Given the description of an element on the screen output the (x, y) to click on. 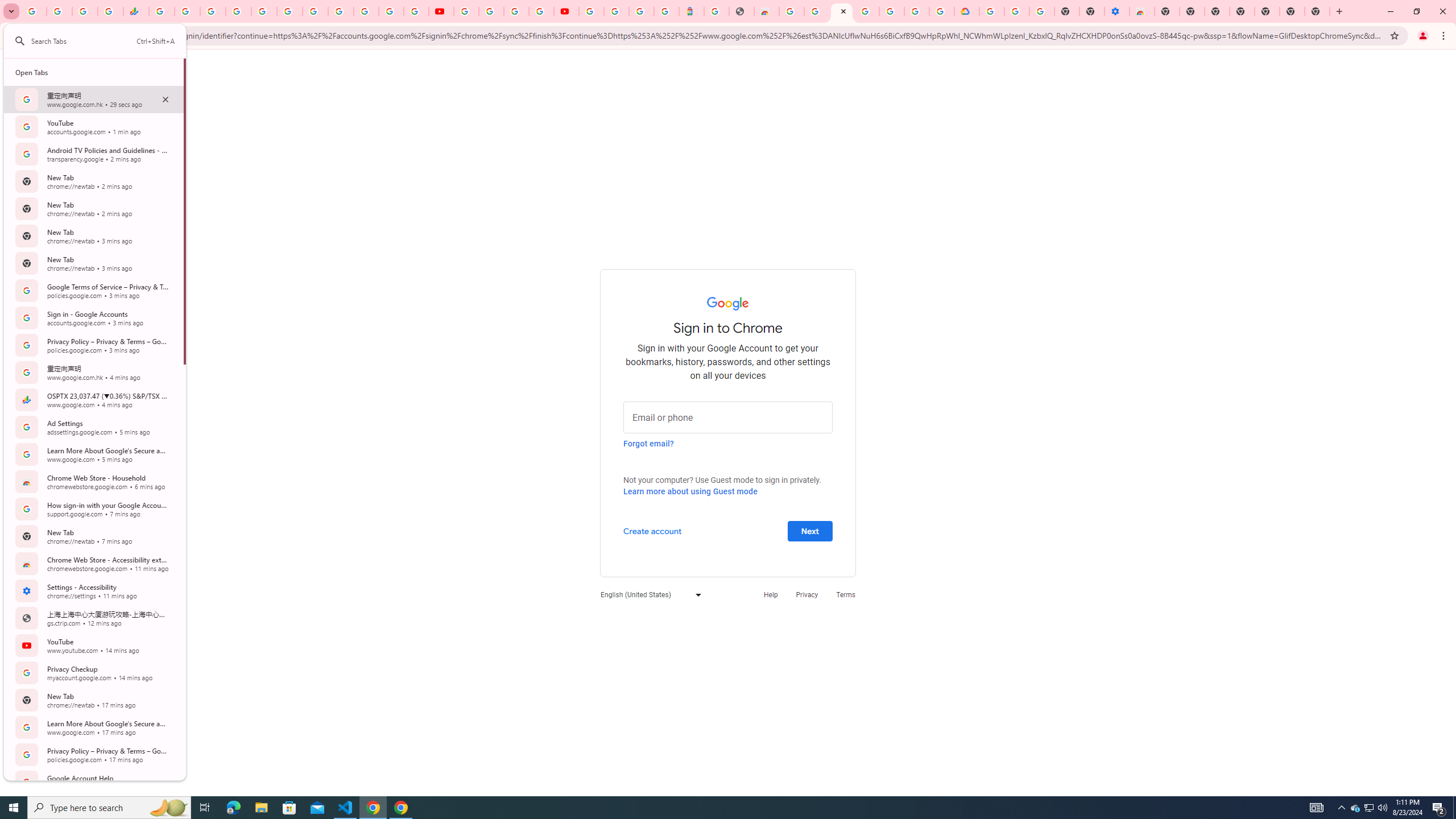
Android TV Policies and Guidelines - Transparency Center (315, 11)
Sign in - Google Accounts (590, 11)
New Tab newtab 17 mins ago Open Tab (93, 700)
Type here to search (108, 807)
Settings - Accessibility (1116, 11)
Sign in - Google Accounts (616, 11)
Sign in - Google Accounts (991, 11)
Action Center, 2 new notifications (1439, 807)
Sign in - Google Accounts (841, 11)
YouTube (340, 11)
